Given the description of an element on the screen output the (x, y) to click on. 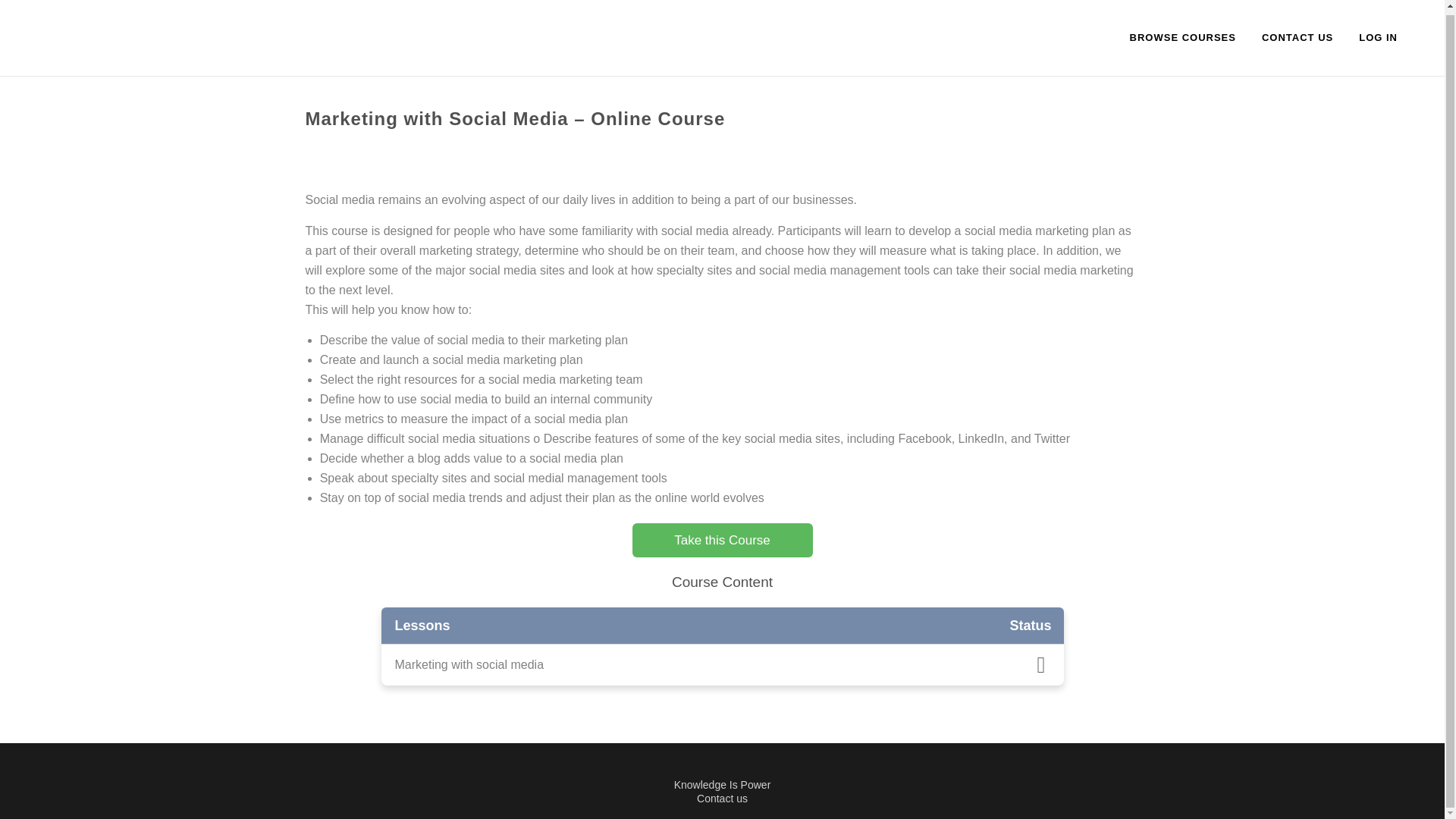
LOG IN (1377, 36)
BROWSE COURSES (1182, 36)
courses-top-menu (1182, 36)
CONTACT US (1297, 36)
